Given the description of an element on the screen output the (x, y) to click on. 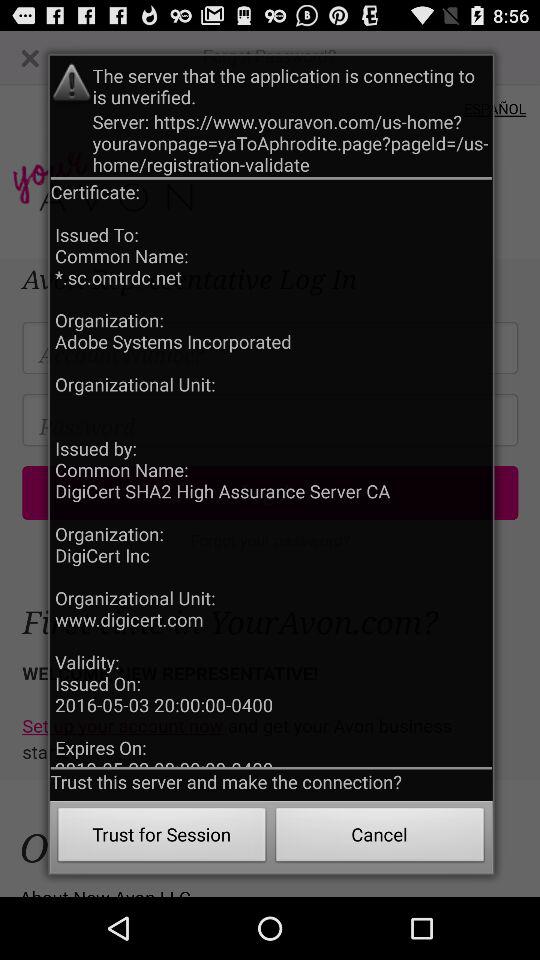
open icon below the trust this server (380, 837)
